Given the description of an element on the screen output the (x, y) to click on. 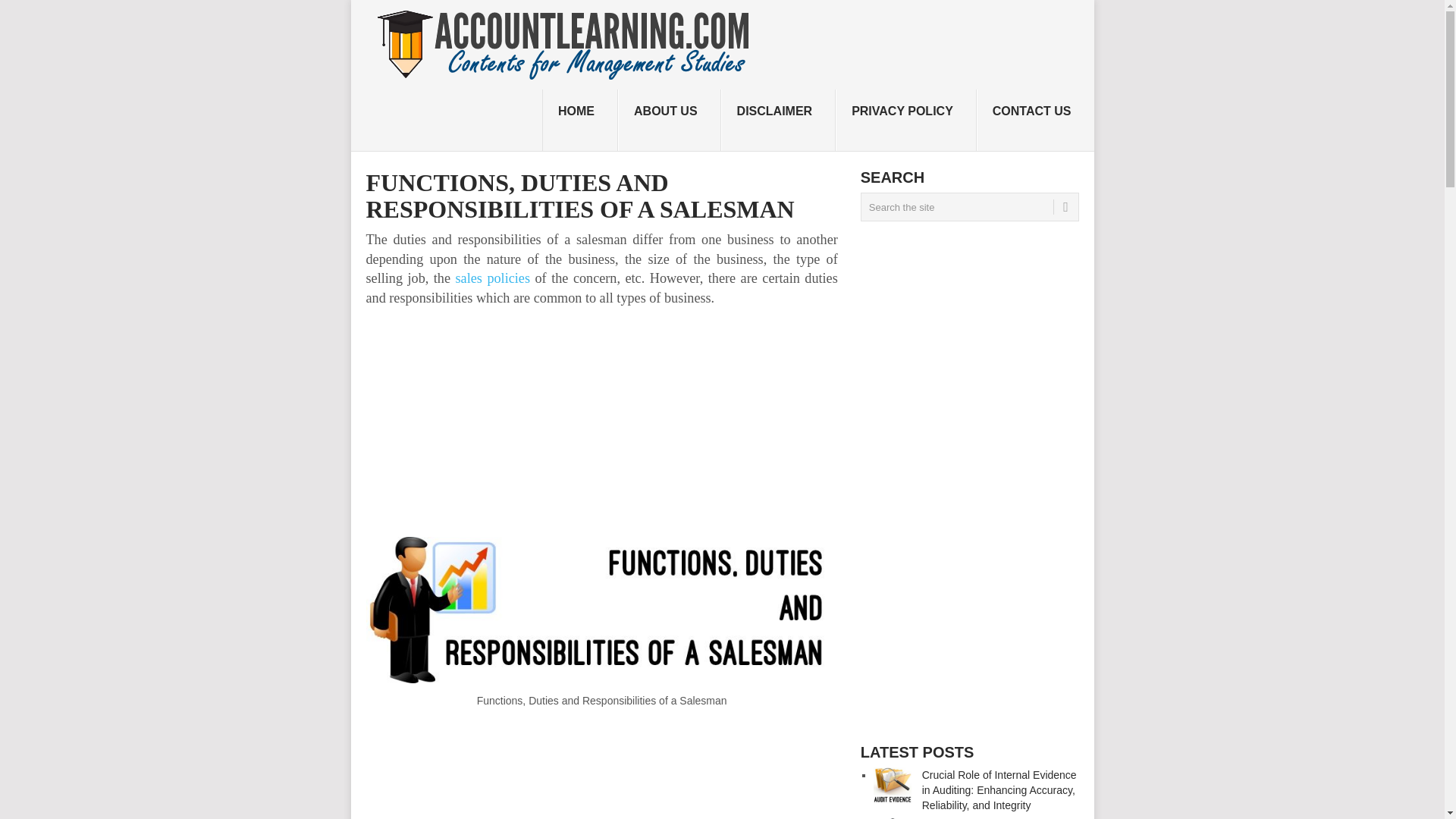
Search the site (969, 206)
ABOUT US (668, 120)
PRIVACY POLICY (905, 120)
sales policies (492, 278)
CONTACT US (1035, 120)
HOME (579, 120)
DISCLAIMER (777, 120)
